Given the description of an element on the screen output the (x, y) to click on. 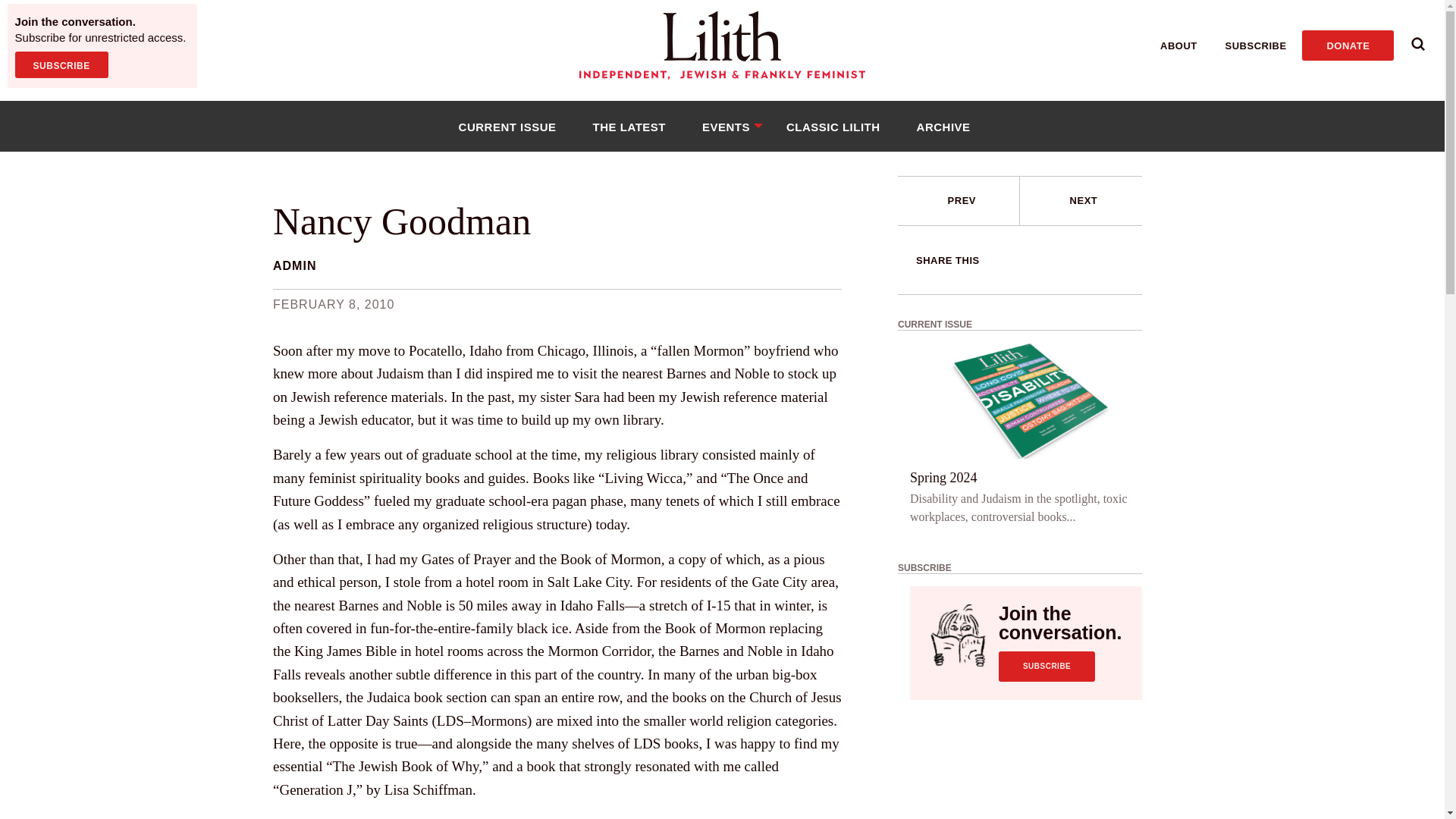
ABOUT (1178, 45)
DONATE (1347, 45)
SUBSCRIBE (1046, 666)
PREV (959, 200)
SUBSCRIBE (1255, 45)
NEXT (1083, 200)
CURRENT ISSUE (507, 126)
SUBSCRIBE (60, 64)
EVENTS (726, 126)
NEXT (1080, 200)
Posts by admin (294, 265)
THE LATEST (628, 126)
ARCHIVE (943, 126)
Spring 2024 (943, 477)
ADMIN (294, 265)
